Given the description of an element on the screen output the (x, y) to click on. 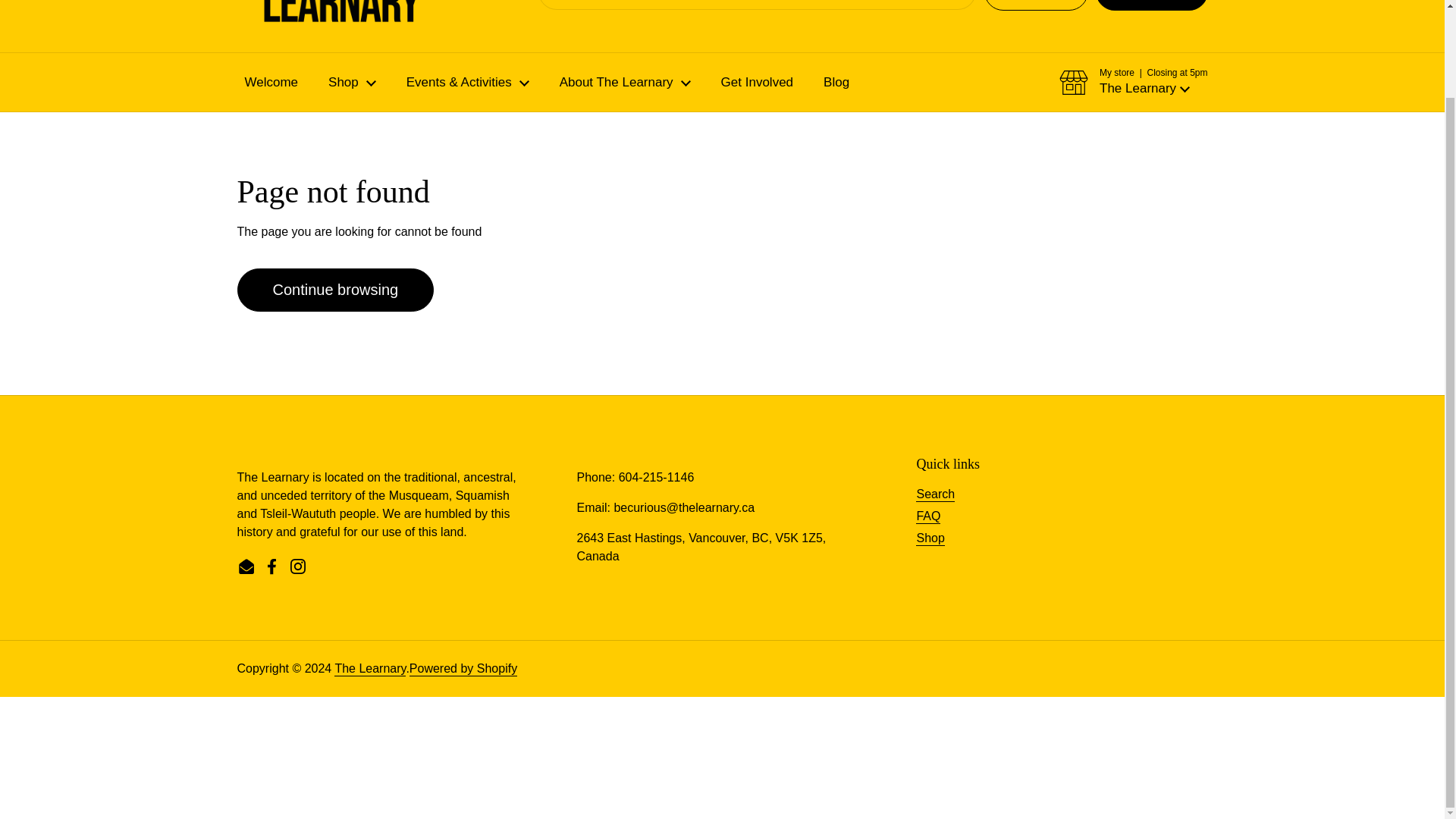
The Learnary (279, 14)
Shop (352, 81)
Account (1035, 5)
Open cart (1152, 5)
Welcome (270, 81)
